Given the description of an element on the screen output the (x, y) to click on. 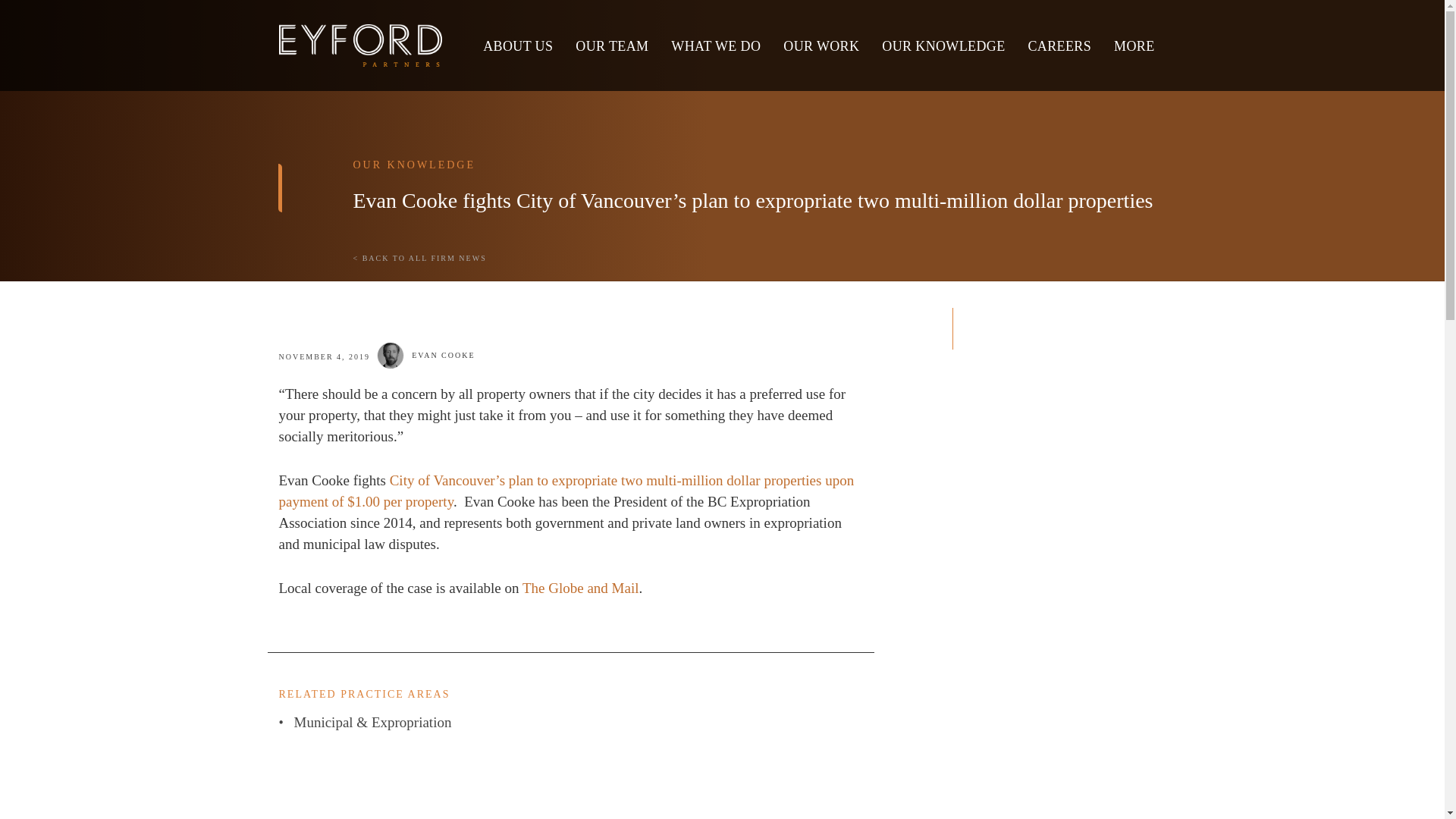
Eyford Partners LLP (360, 45)
OUR TEAM (611, 43)
Print (976, 316)
ABOUT US (517, 43)
